Given the description of an element on the screen output the (x, y) to click on. 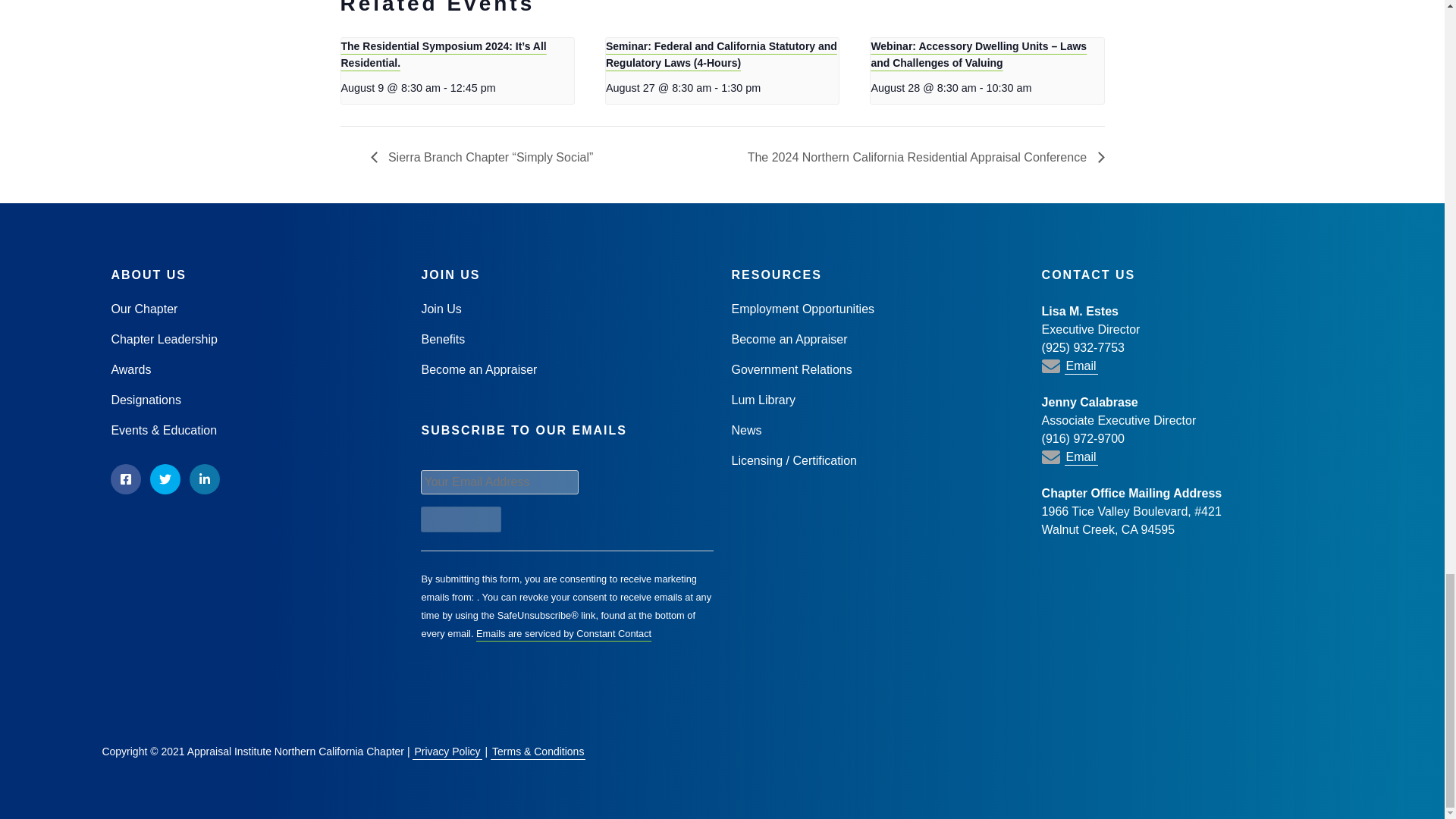
Norcal-AI Twitter (164, 479)
Subscribe (460, 519)
Norcal-AI Facebook (125, 479)
Norcal-AI LinkedIn (204, 479)
